Given the description of an element on the screen output the (x, y) to click on. 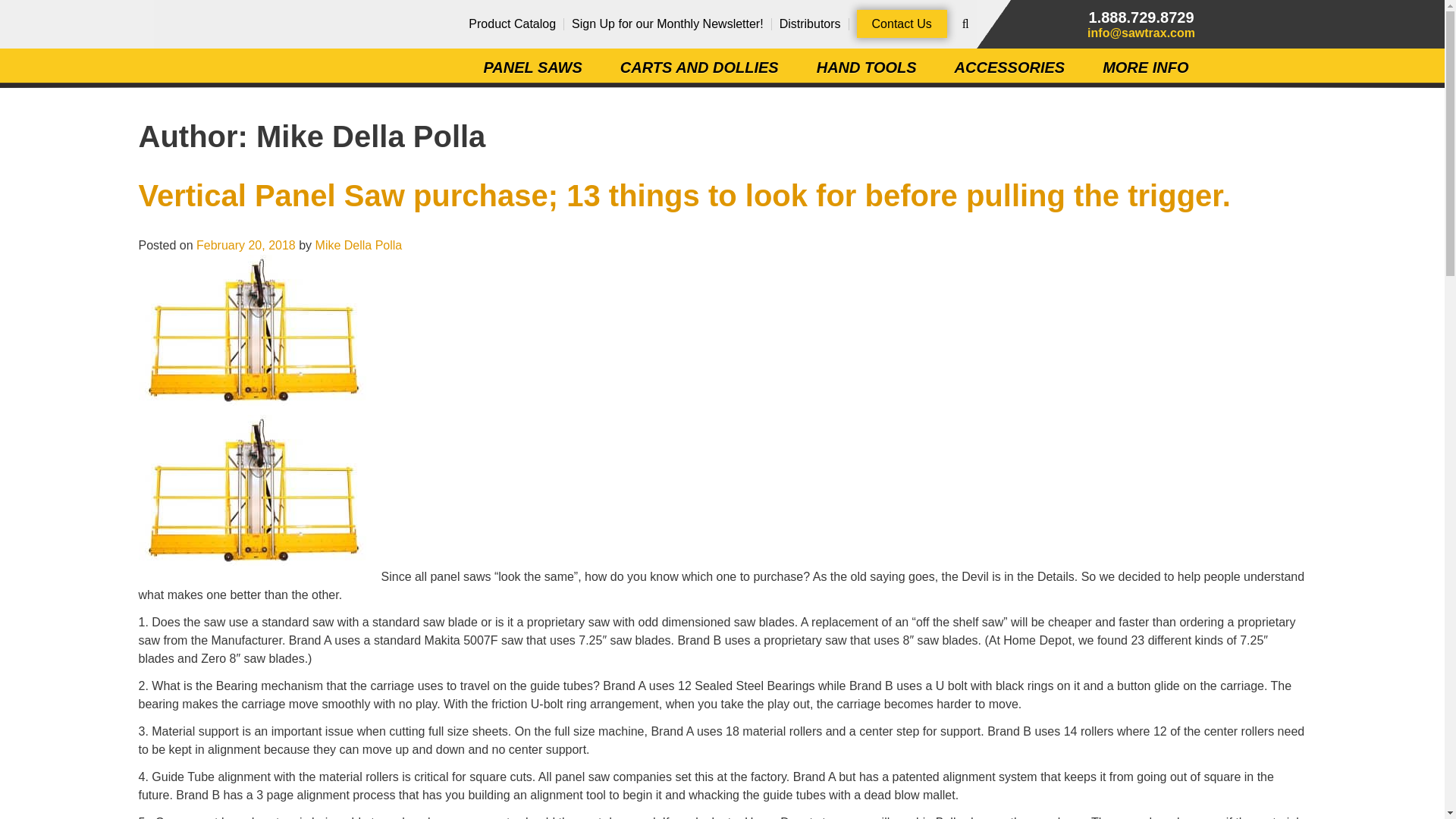
Contact Us (902, 23)
Product Catalog (512, 23)
Sign Up for our Monthly Newsletter! (667, 23)
Saw Trax Panel Saw Manufacturing (265, 52)
Panel Saws by Saw Trax (265, 52)
1.888.729.8729 (1141, 17)
CARTS AND DOLLIES (699, 67)
Distributors (809, 23)
PANEL SAWS (531, 67)
HAND TOOLS (866, 67)
